Given the description of an element on the screen output the (x, y) to click on. 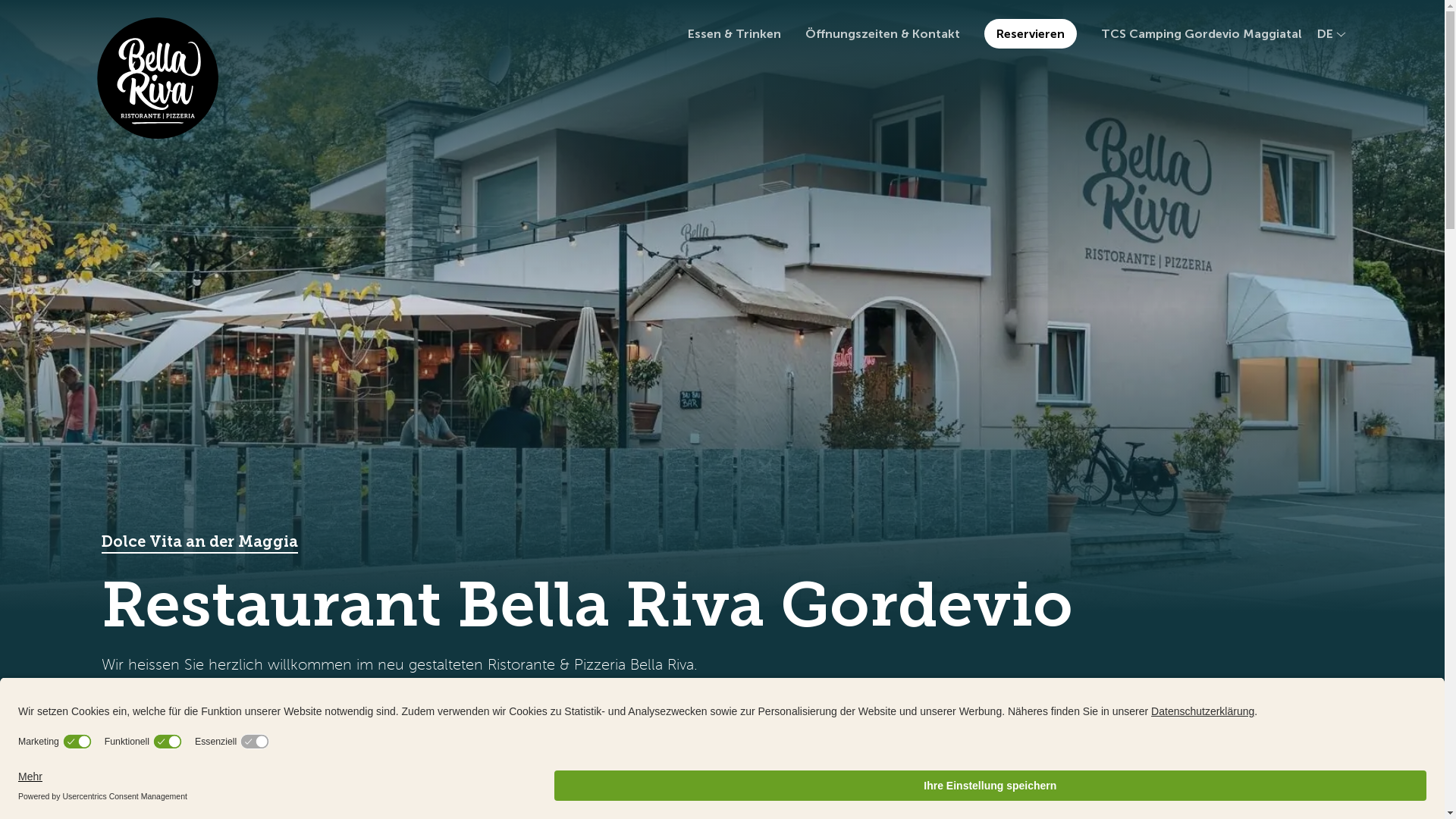
Zur Startseite Element type: hover (157, 77)
Reservieren Element type: text (167, 710)
Essen & Trinken Element type: text (733, 33)
Reservieren Element type: text (1030, 33)
TCS Camping Gordevio Maggiatal Element type: text (1201, 33)
